Given the description of an element on the screen output the (x, y) to click on. 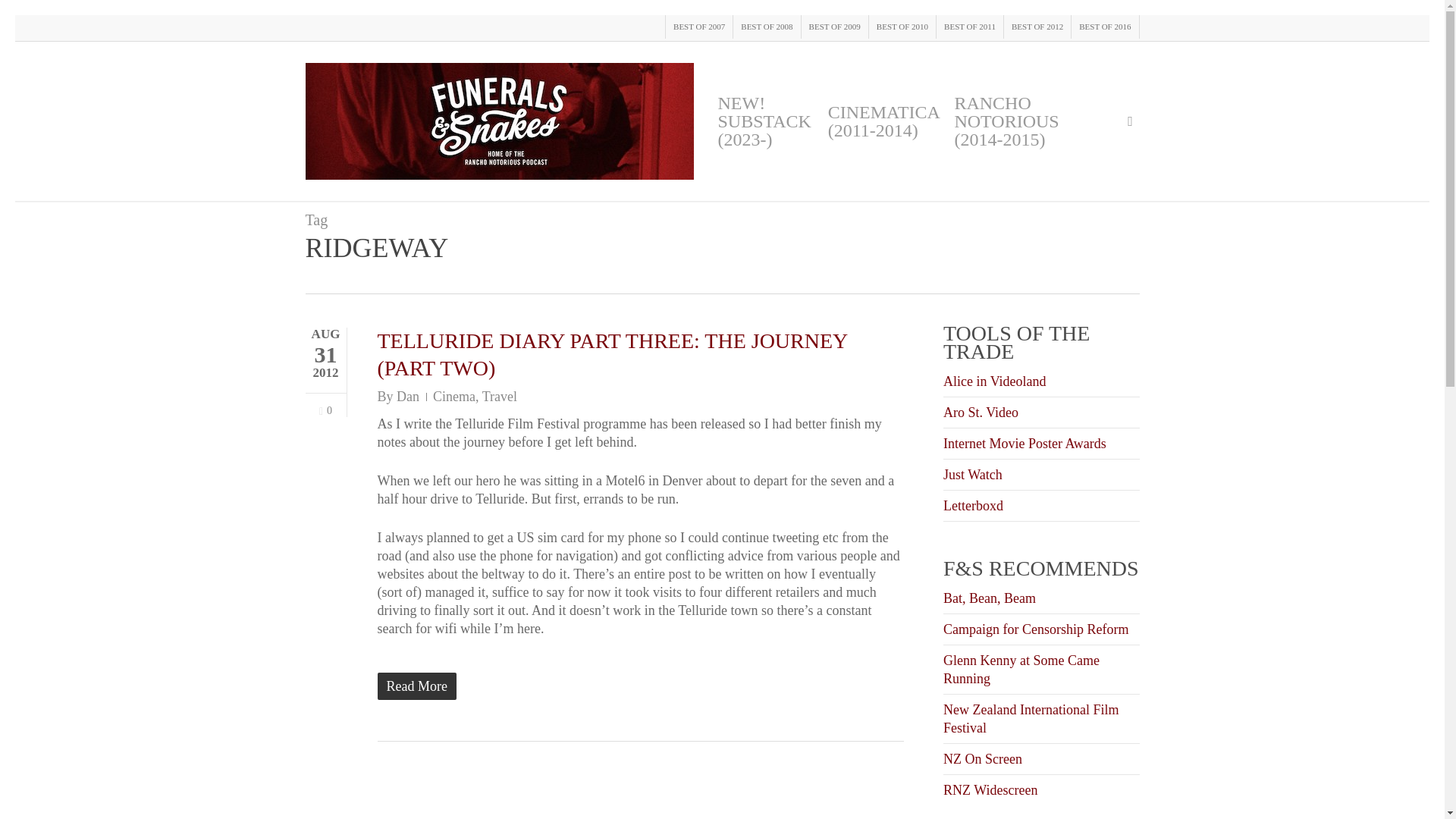
Internet Movie Poster Awards (1024, 443)
BEST OF 2007 (698, 26)
RNZ Widescreen (989, 789)
Dn's professional film reviewing location (989, 789)
Letterboxd (973, 505)
Dan (407, 396)
BEST OF 2008 (765, 26)
Robyn Gallagher (989, 816)
Cinema (454, 396)
Alice in Videoland (994, 381)
search (1129, 120)
BEST OF 2016 (1104, 26)
First port of call when looking for movie poster images (1024, 443)
Campaign for Censorship Reform (1035, 629)
